Given the description of an element on the screen output the (x, y) to click on. 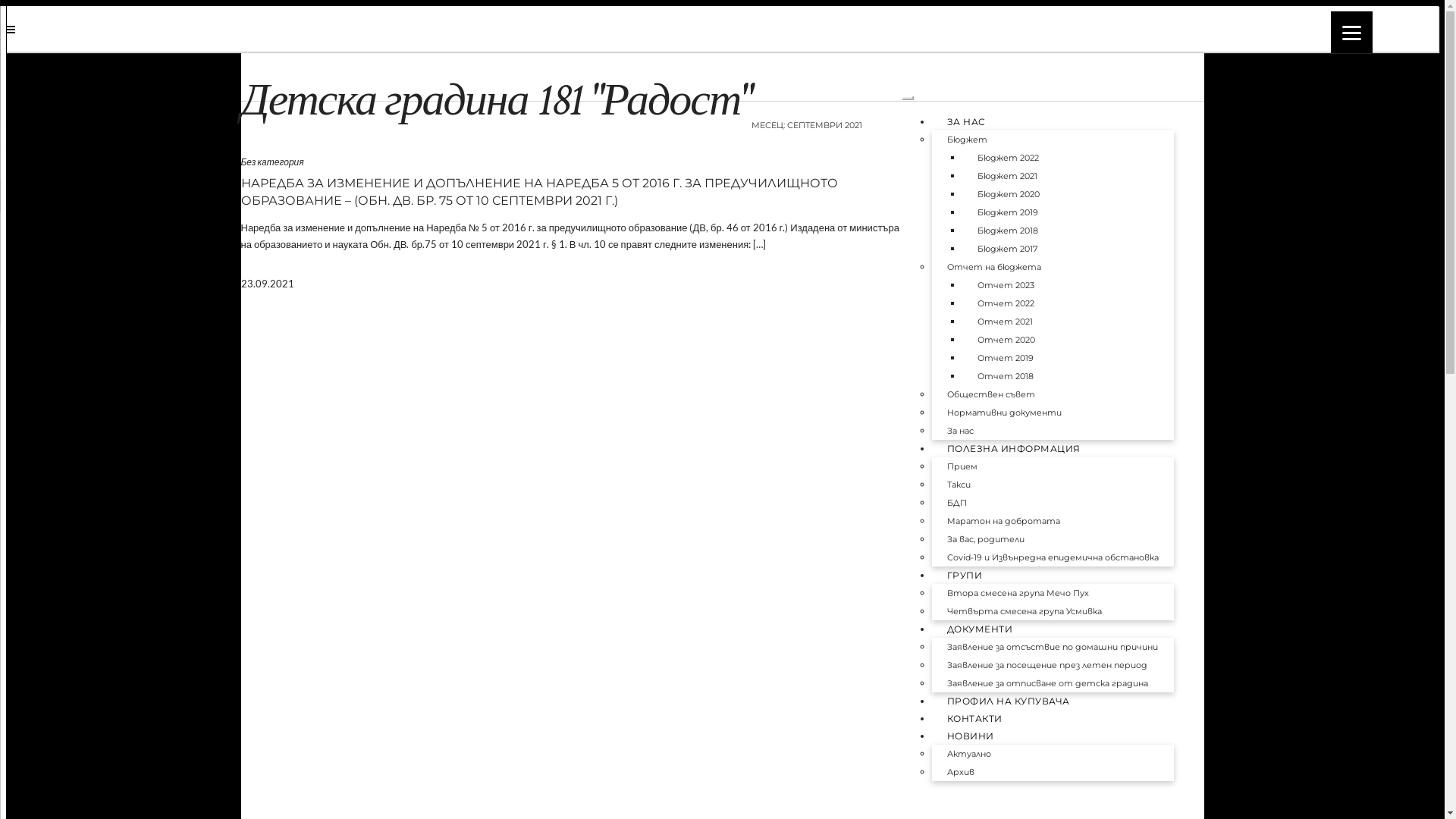
Toggle Navigation Element type: text (906, 97)
